Given the description of an element on the screen output the (x, y) to click on. 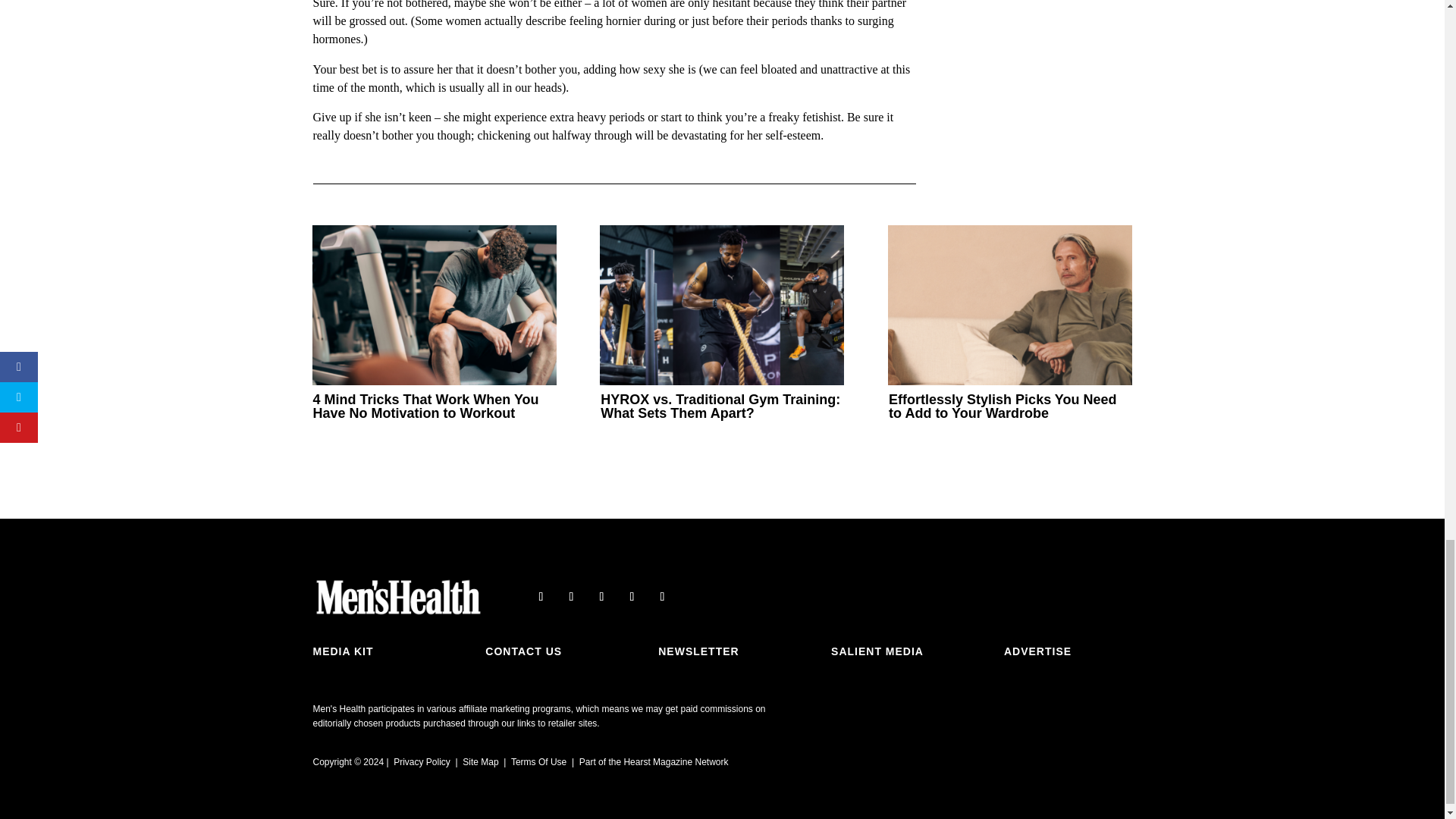
Follow on Youtube (631, 596)
Follow on Facebook (540, 596)
Follow on X (571, 596)
Follow on TikTok (661, 596)
Follow on Instagram (600, 596)
